Given the description of an element on the screen output the (x, y) to click on. 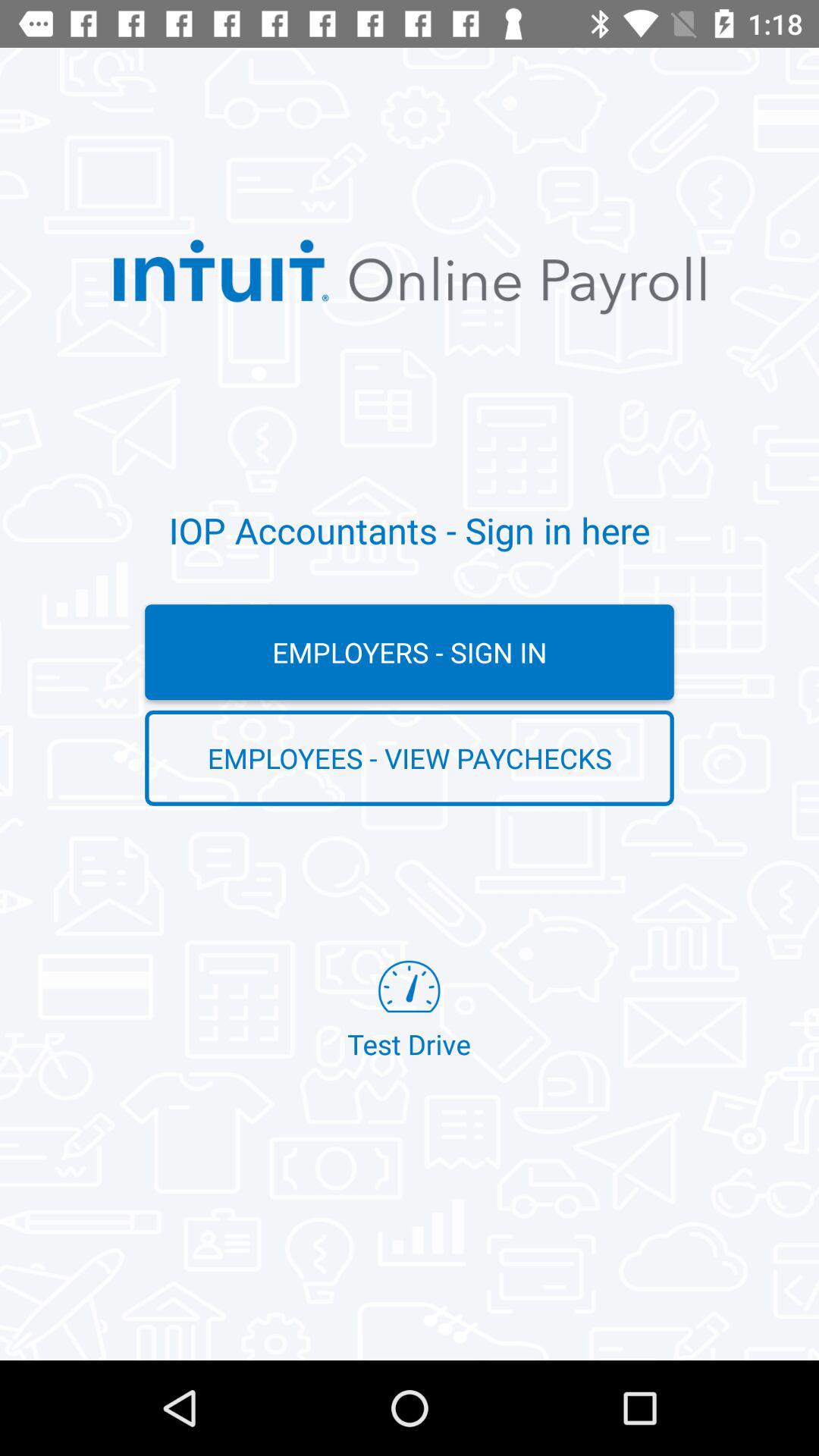
jump until the employees - view paychecks (409, 757)
